Given the description of an element on the screen output the (x, y) to click on. 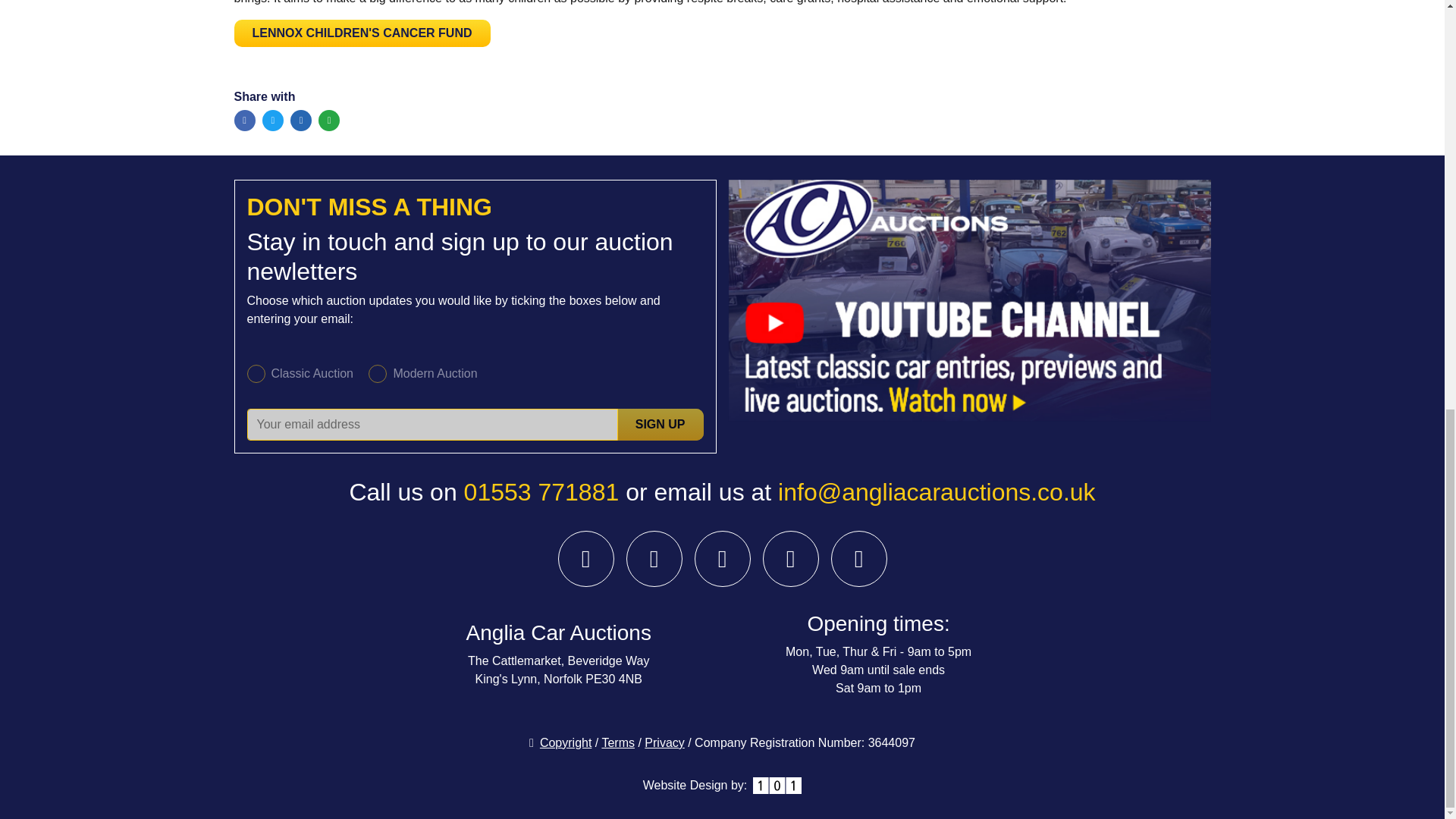
Email (328, 120)
true (377, 373)
01553 771881 (542, 492)
LinkedIn (300, 120)
LENNOX CHILDREN'S CANCER FUND (360, 31)
SIGN UP (660, 424)
Twitter (272, 120)
Facebook (243, 120)
true (255, 373)
